Given the description of an element on the screen output the (x, y) to click on. 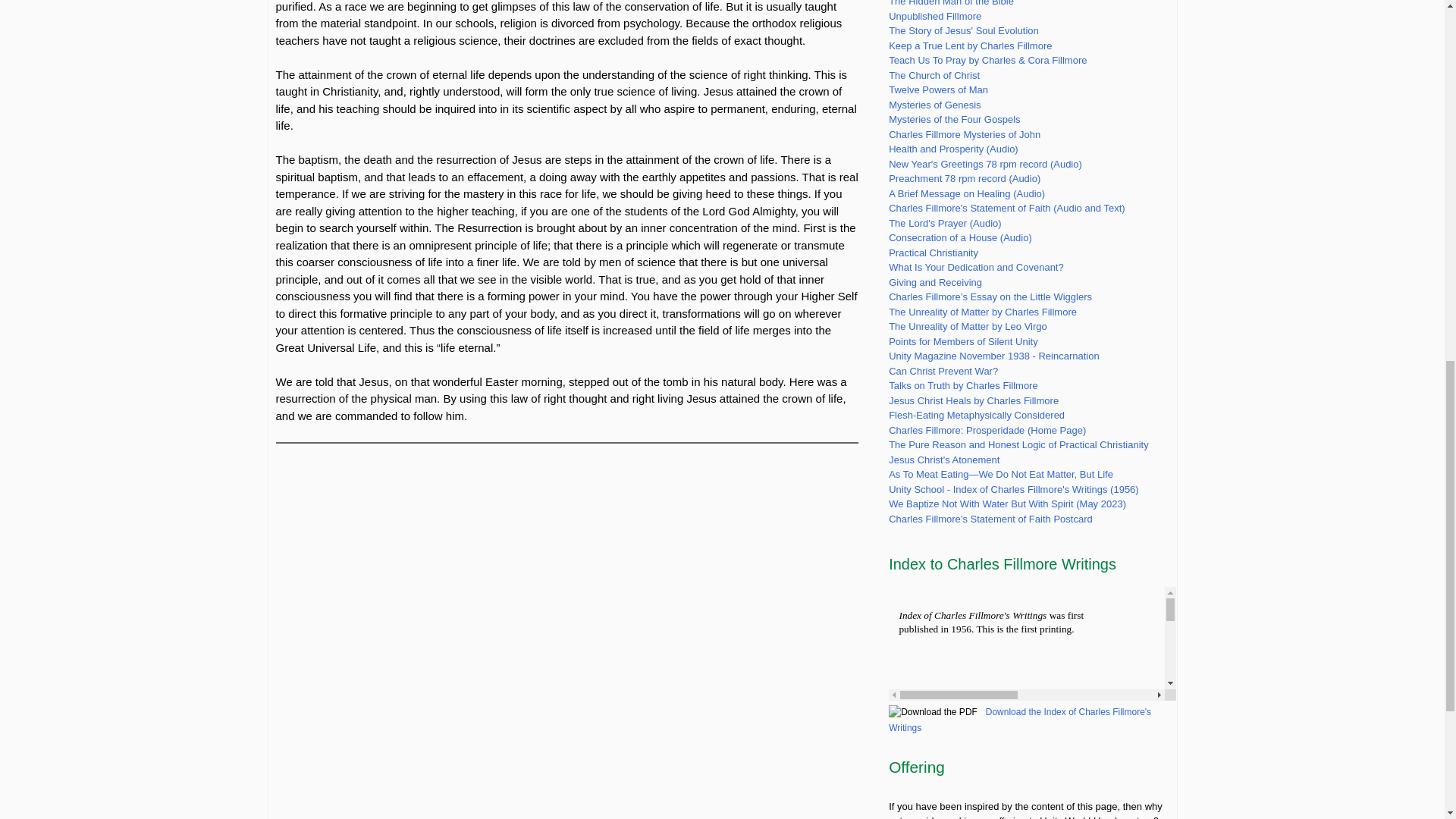
PDF copy of Index of Charles Fillmore's Writings (1019, 719)
